Given the description of an element on the screen output the (x, y) to click on. 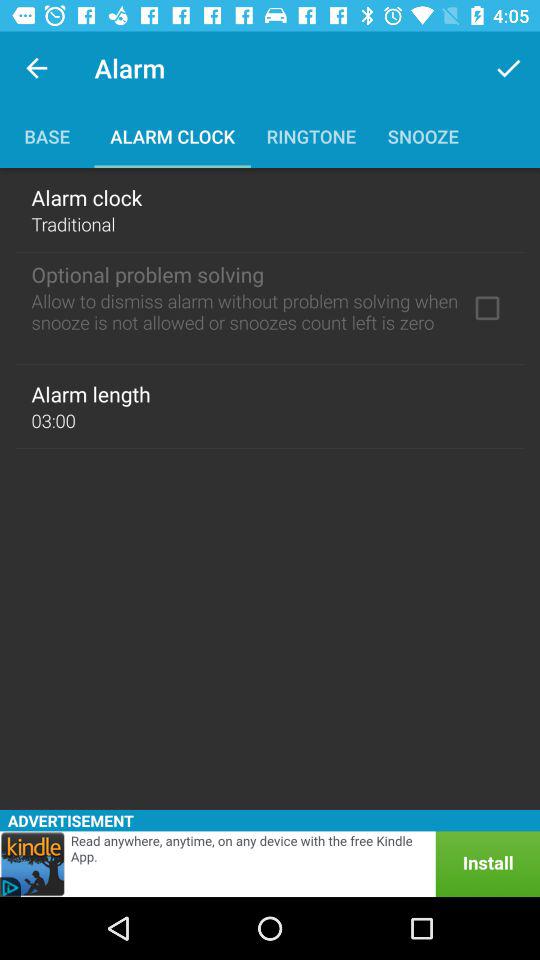
turn on icon next to the alarm app (508, 67)
